Given the description of an element on the screen output the (x, y) to click on. 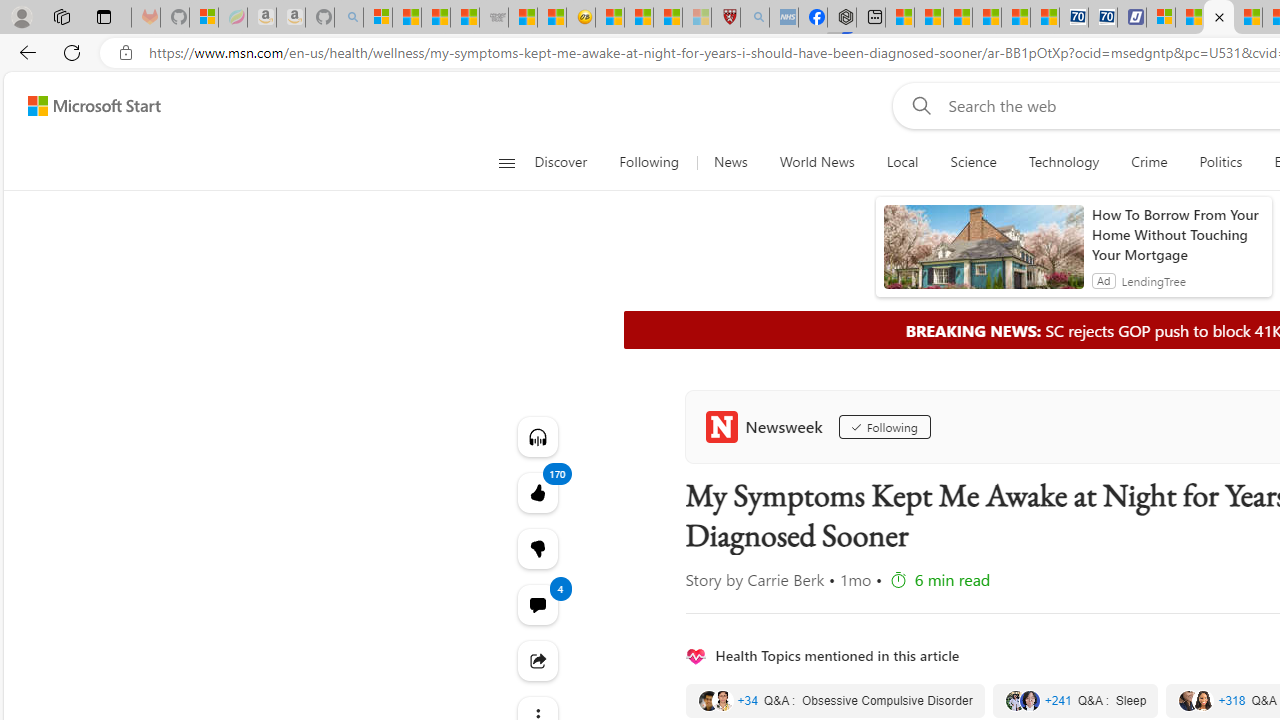
Open navigation menu (506, 162)
Local (902, 162)
Skip to footer (82, 105)
Crime (1149, 162)
170 (537, 548)
Technology (1063, 162)
